Given the description of an element on the screen output the (x, y) to click on. 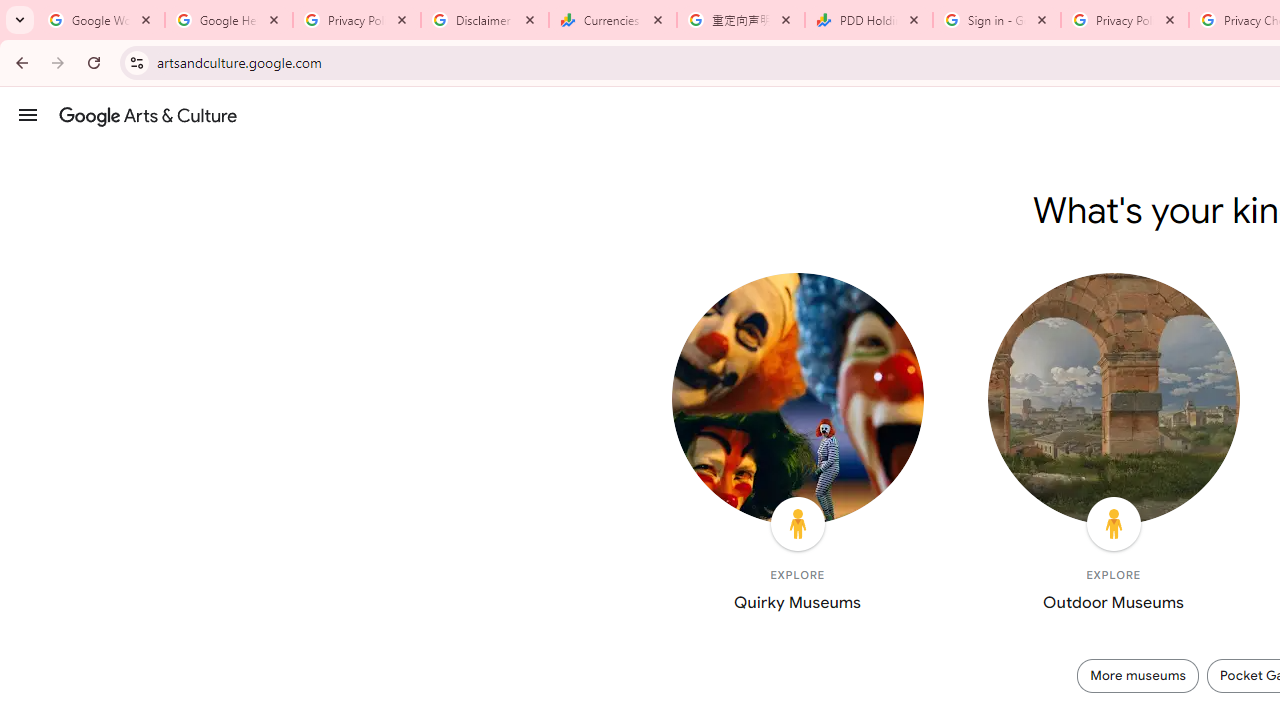
Sign in - Google Accounts (997, 20)
Currencies - Google Finance (613, 20)
More museums (1138, 675)
EXPLORE Quirky Museums (797, 447)
